Given the description of an element on the screen output the (x, y) to click on. 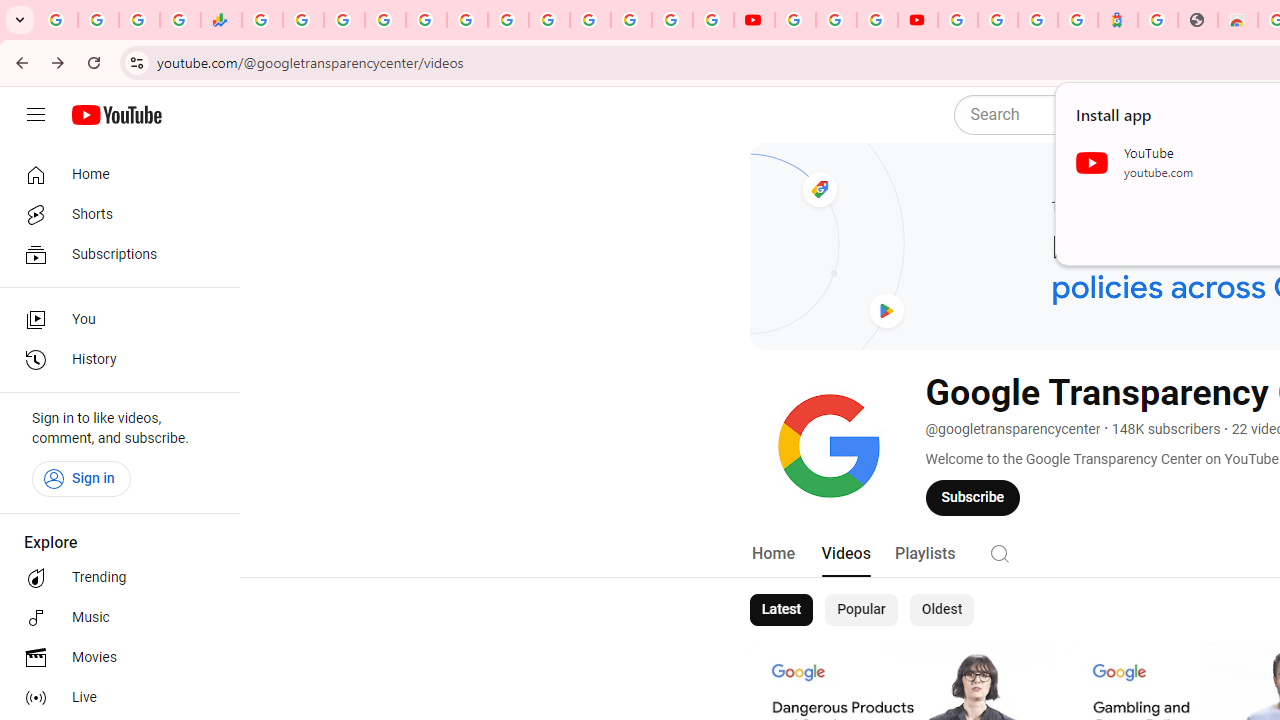
Android TV Policies and Guidelines - Transparency Center (507, 20)
Popular (861, 609)
Create your Google Account (877, 20)
